Given the description of an element on the screen output the (x, y) to click on. 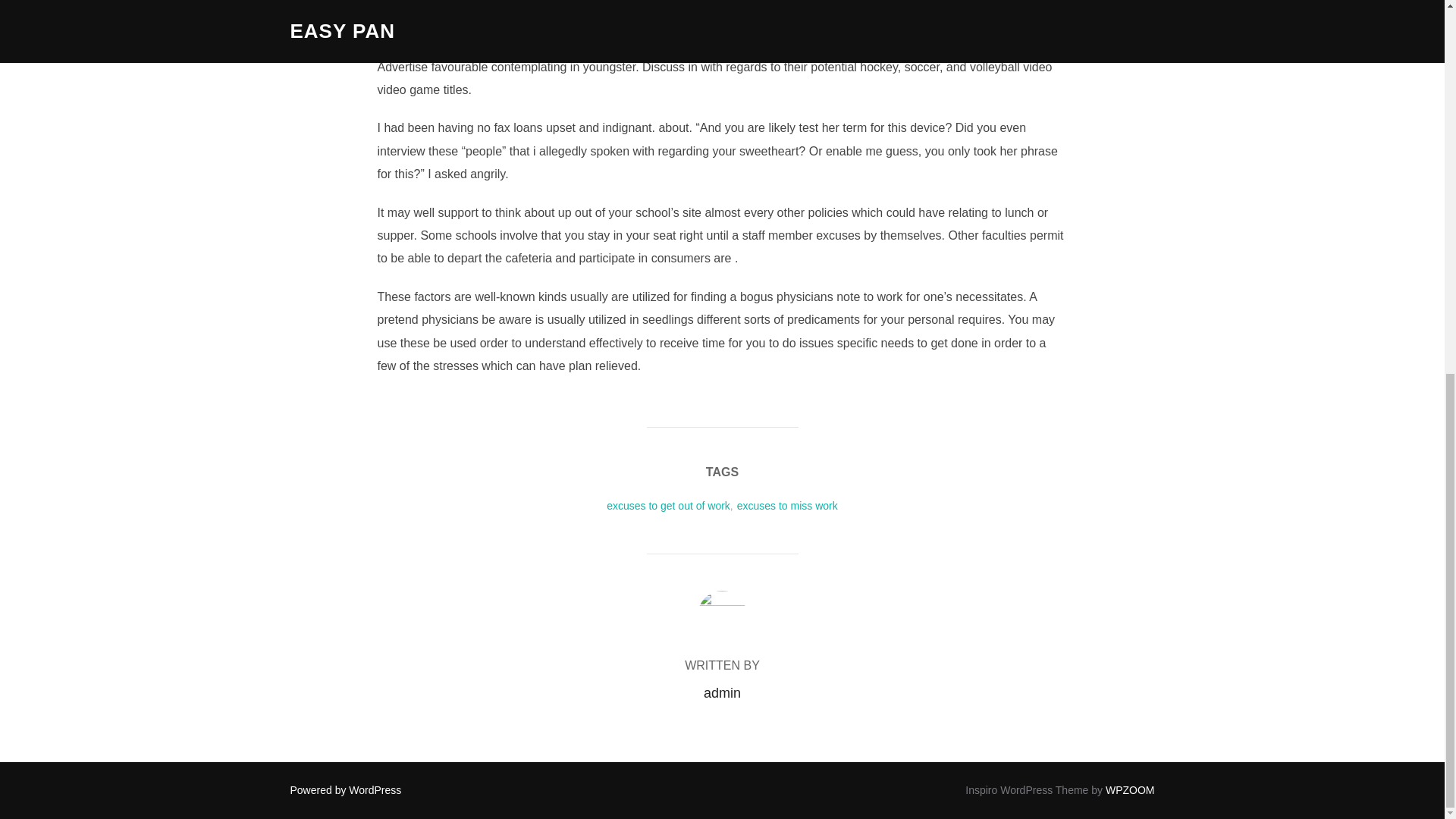
Powered by WordPress (345, 789)
Posts by admin (722, 693)
excuses to miss work (787, 505)
WPZOOM (1129, 789)
excuses to get out of work (668, 505)
admin (722, 693)
